Given the description of an element on the screen output the (x, y) to click on. 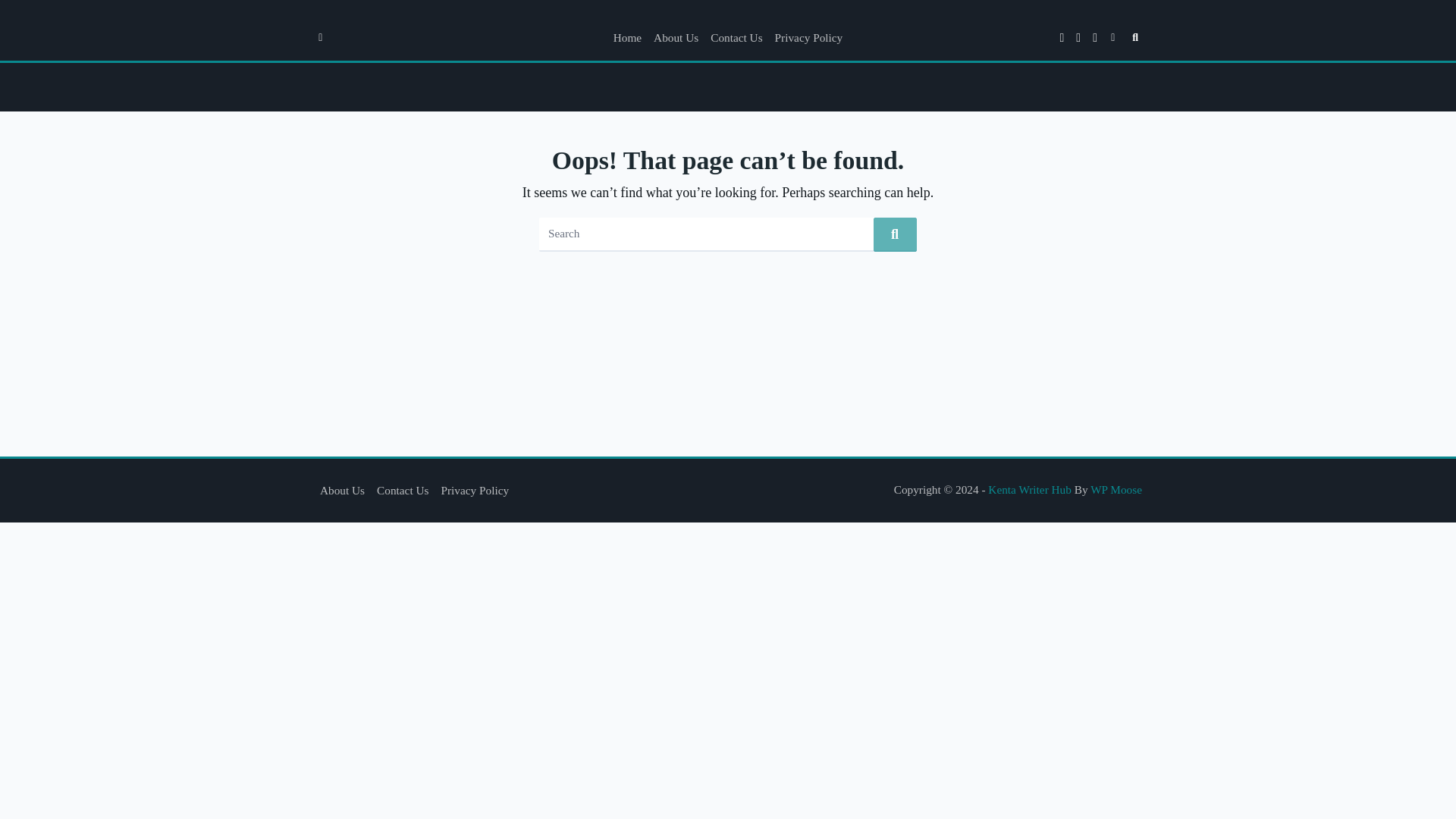
Kenta Writer Hub (1029, 489)
Privacy Policy (808, 37)
About Us (675, 37)
WP Moose (1115, 489)
Privacy Policy (474, 489)
Contact Us (402, 489)
Contact Us (736, 37)
About Us (342, 489)
